Given the description of an element on the screen output the (x, y) to click on. 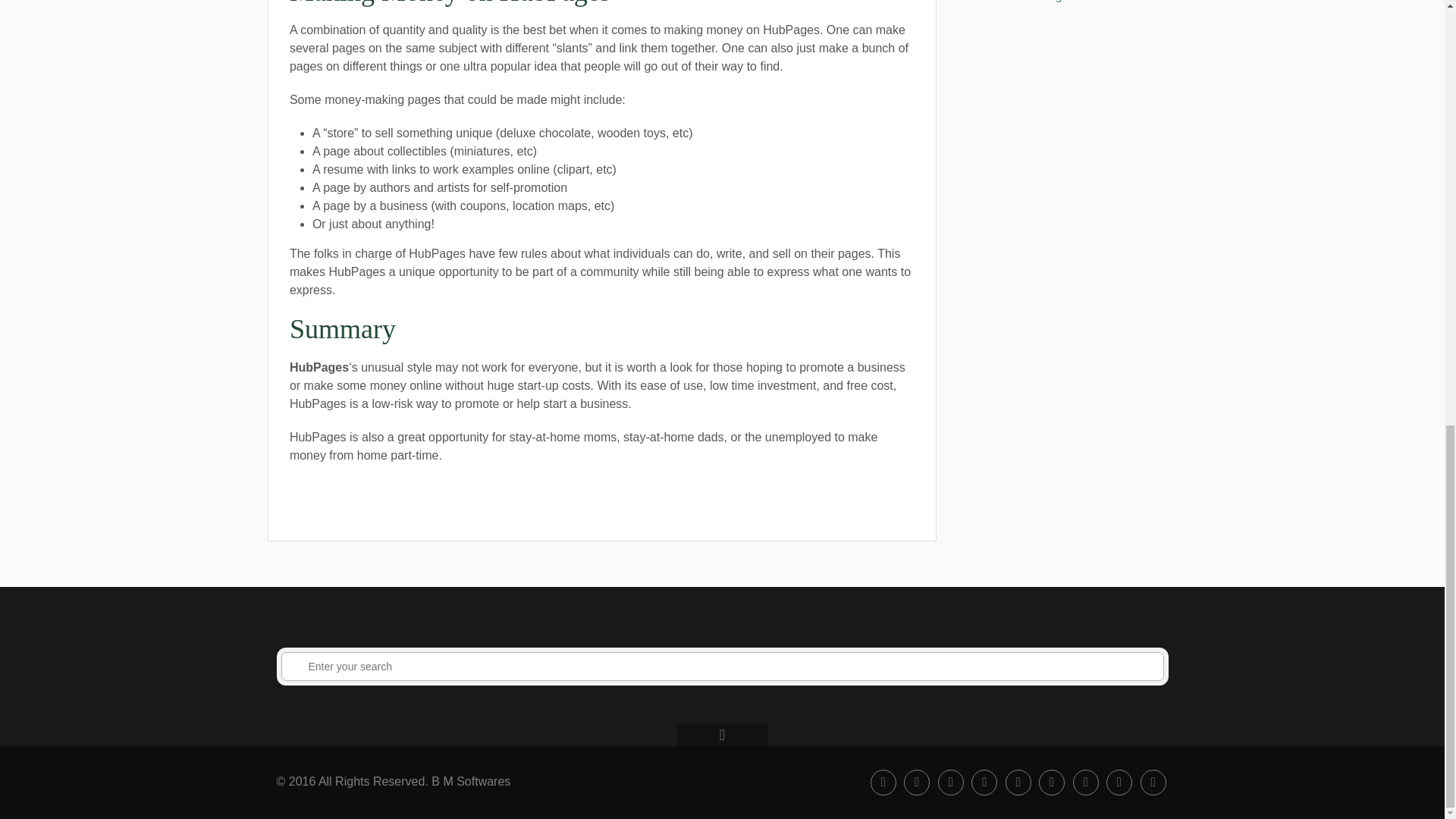
YouTube (1018, 782)
Pinterest (1119, 782)
LinkedIn (1086, 782)
Flickr (1051, 782)
Facebook (883, 782)
Search (295, 667)
Dribbble (1153, 782)
Twitter (950, 782)
Vimeo (984, 782)
